Given the description of an element on the screen output the (x, y) to click on. 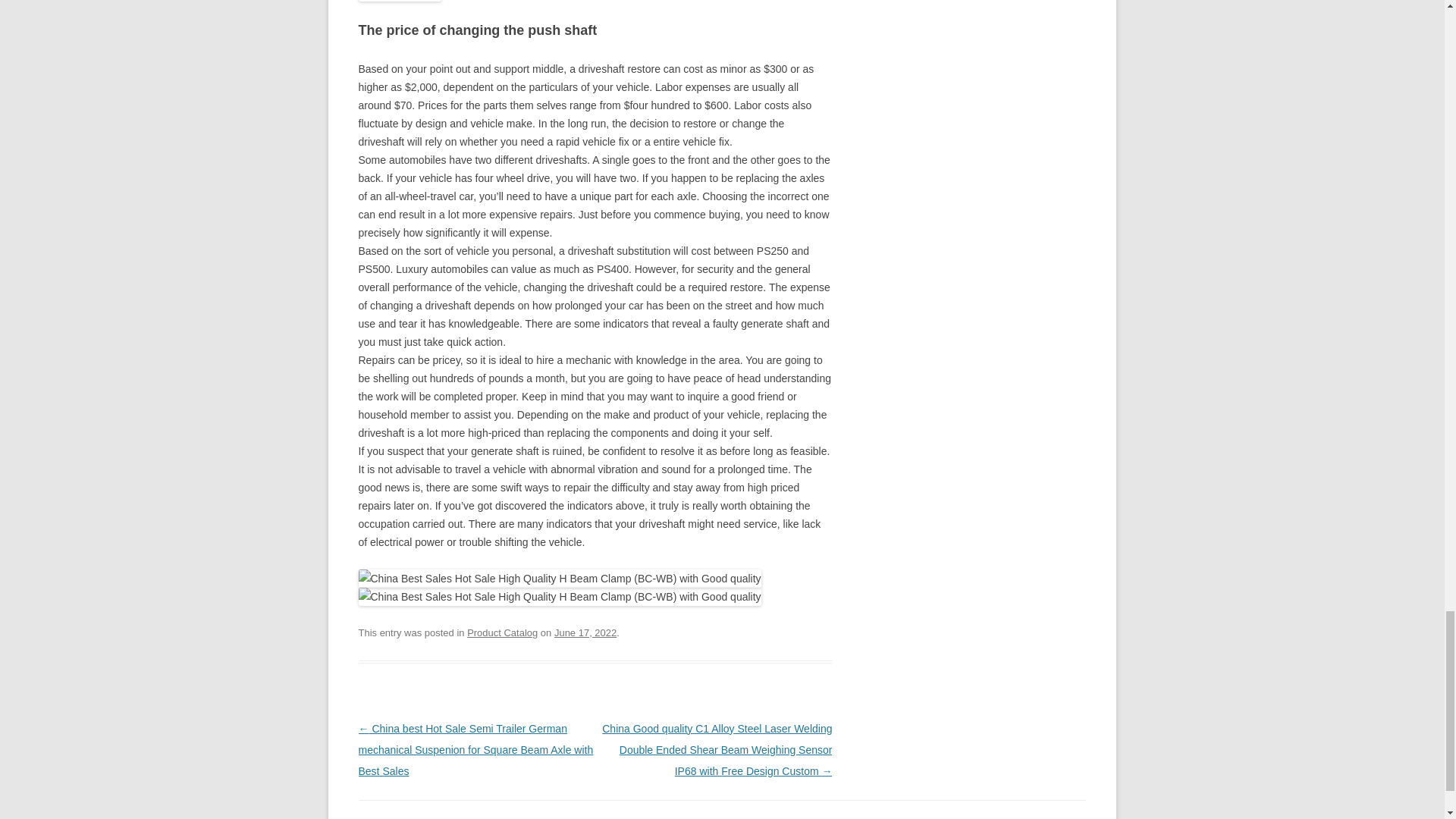
Product Catalog (502, 632)
1:17 pm (584, 632)
June 17, 2022 (584, 632)
